Given the description of an element on the screen output the (x, y) to click on. 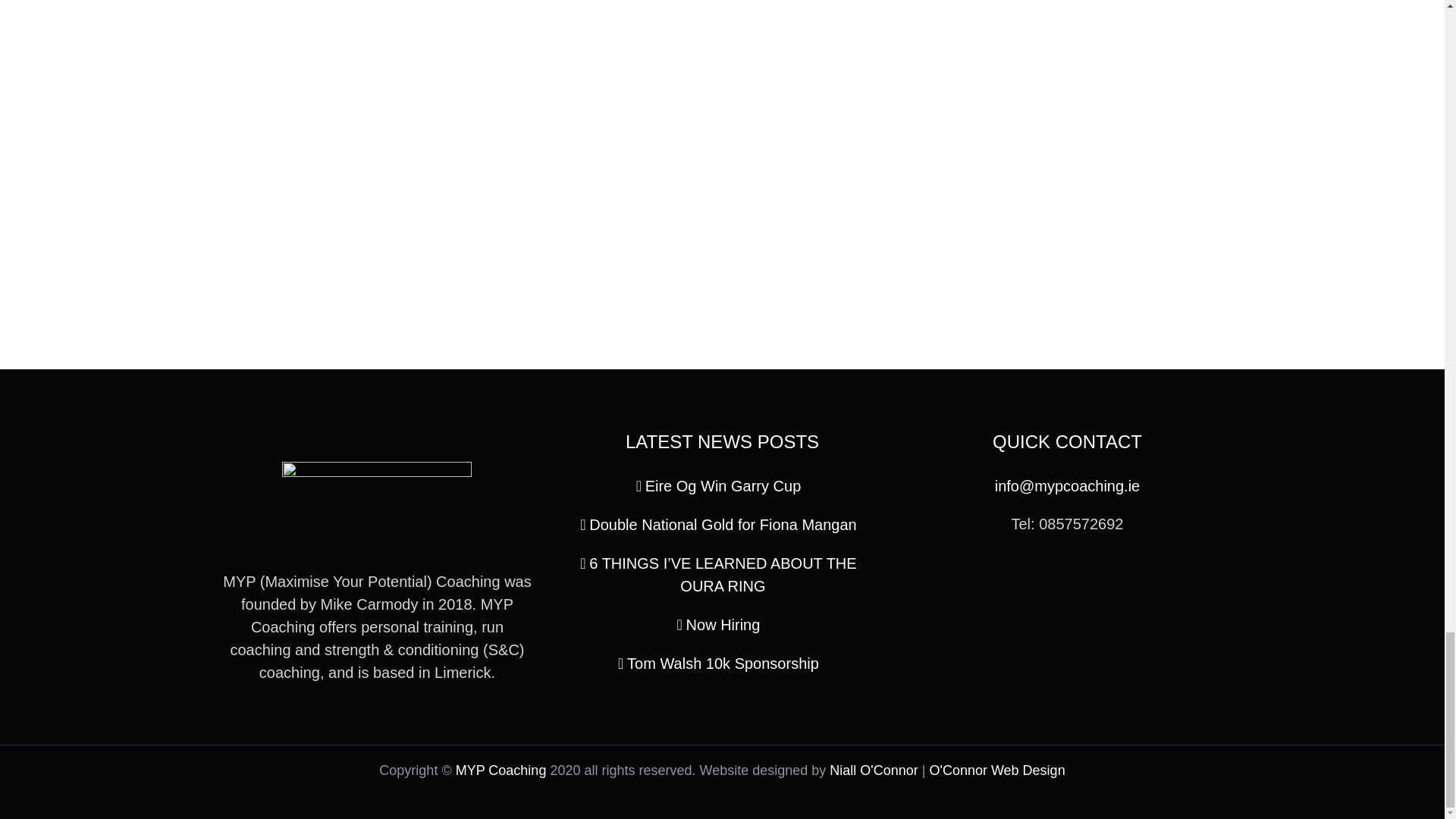
MYP Coaching (501, 770)
Now Hiring (722, 624)
Tom Walsh 10k Sponsorship (722, 662)
Niall O'Connor (873, 770)
Double National Gold for Fiona Mangan (722, 524)
O'Connor Web Design (996, 770)
Eire Og Win Garry Cup (722, 486)
